Given the description of an element on the screen output the (x, y) to click on. 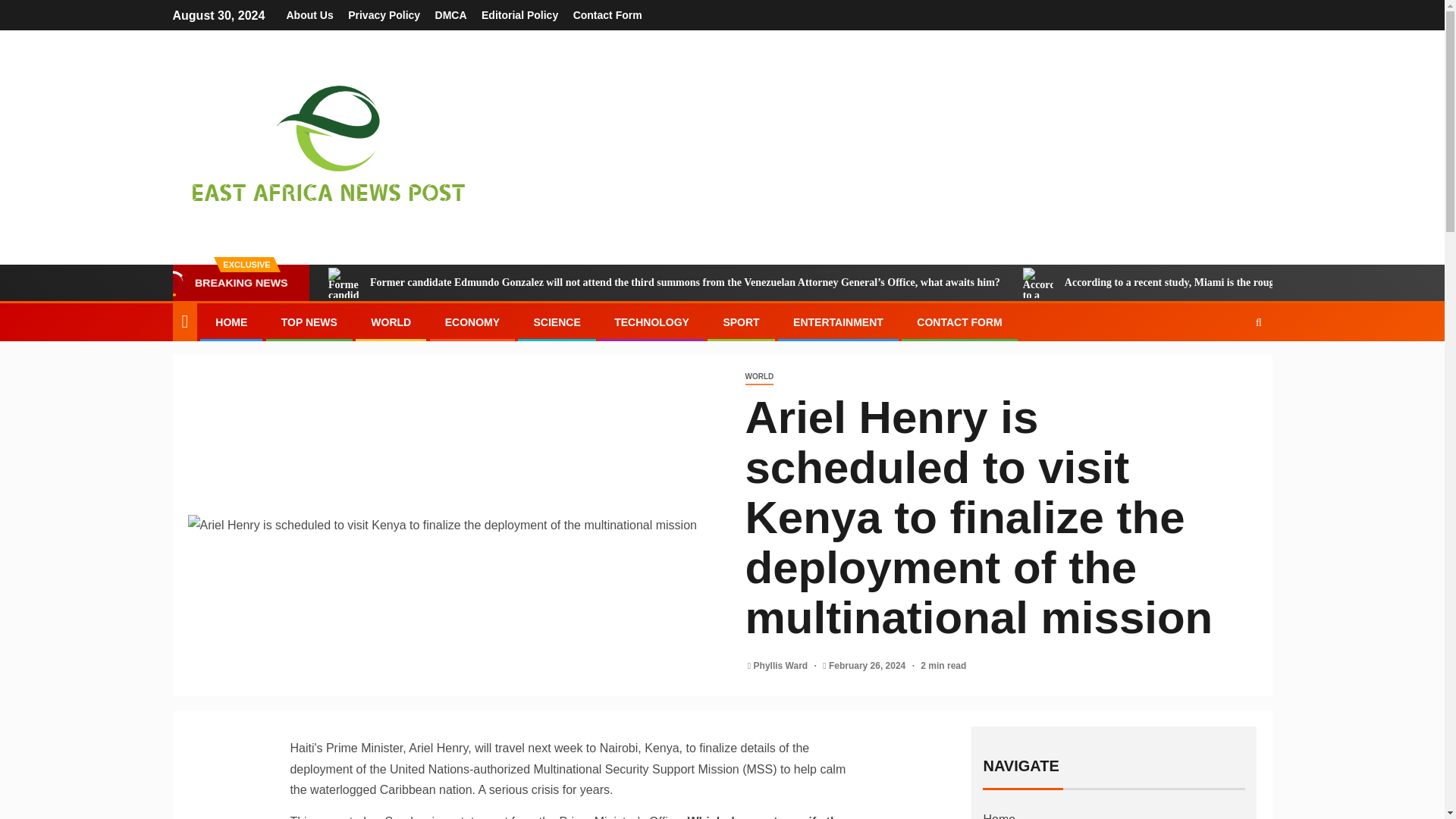
WORLD (390, 322)
About Us (309, 15)
DMCA (451, 15)
Privacy Policy (383, 15)
TECHNOLOGY (651, 322)
SPORT (740, 322)
Search (1229, 368)
SCIENCE (555, 322)
HOME (231, 322)
